Given the description of an element on the screen output the (x, y) to click on. 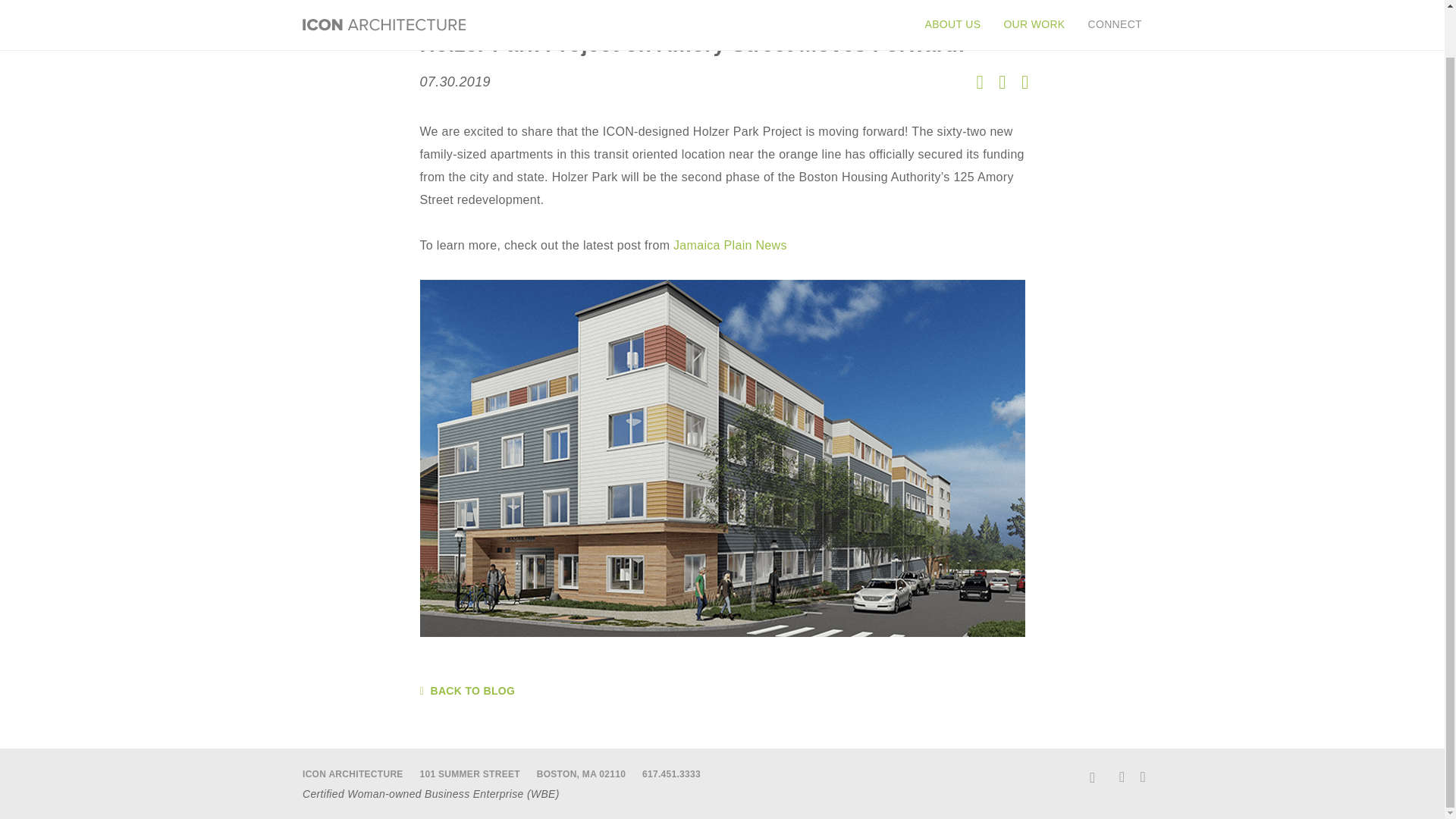
617.451.3333 (671, 774)
Jamaica Plain News (729, 245)
BACK TO BLOG (722, 690)
